Given the description of an element on the screen output the (x, y) to click on. 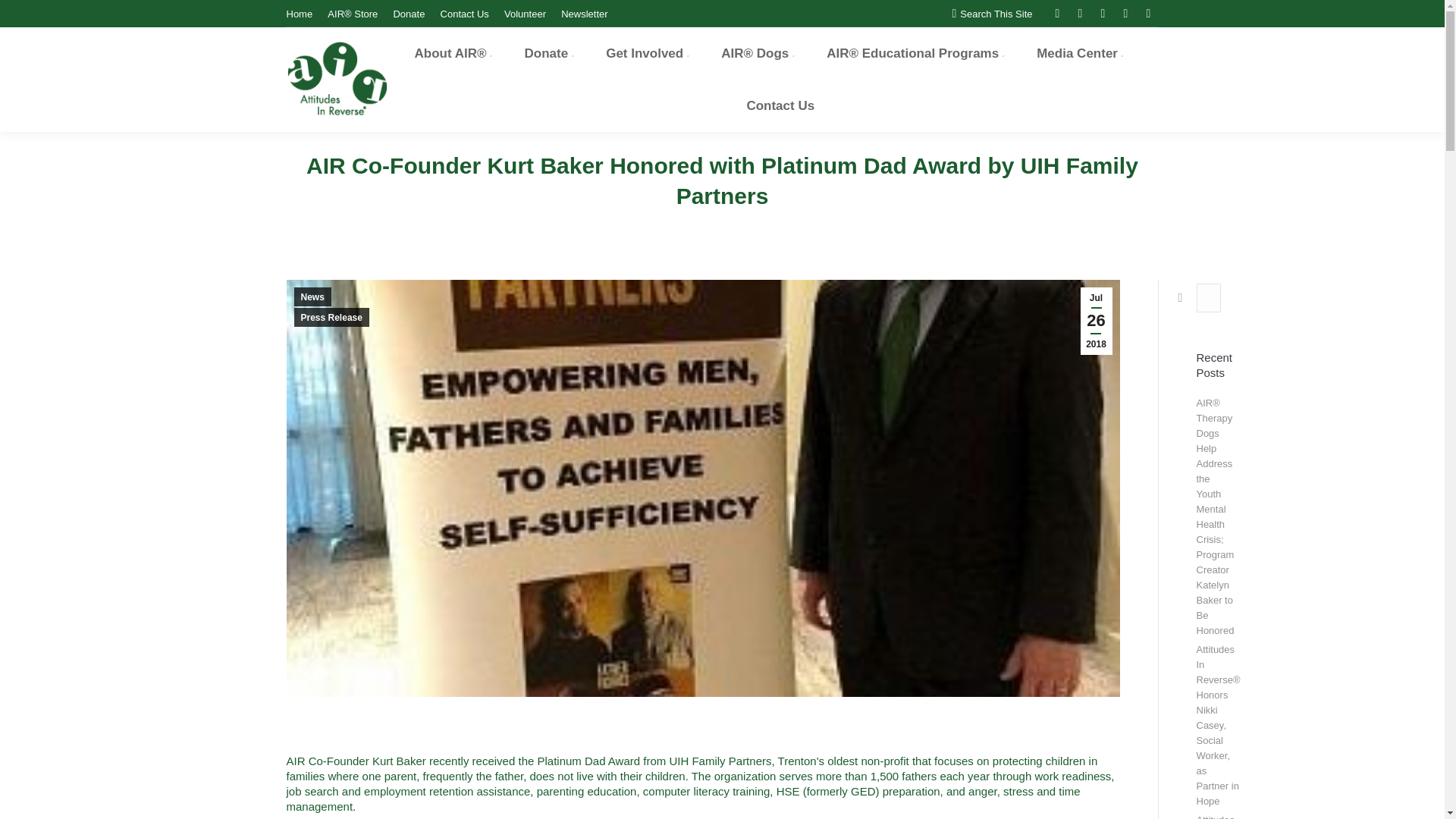
Go! (24, 16)
Go! (1172, 297)
Newsletter (583, 12)
Search This Site (992, 12)
Flickr page opens in new window (1125, 13)
Contact Us (465, 12)
Go! (1172, 297)
Instagram page opens in new window (1148, 13)
Get Involved (648, 53)
Donate (409, 12)
